Given the description of an element on the screen output the (x, y) to click on. 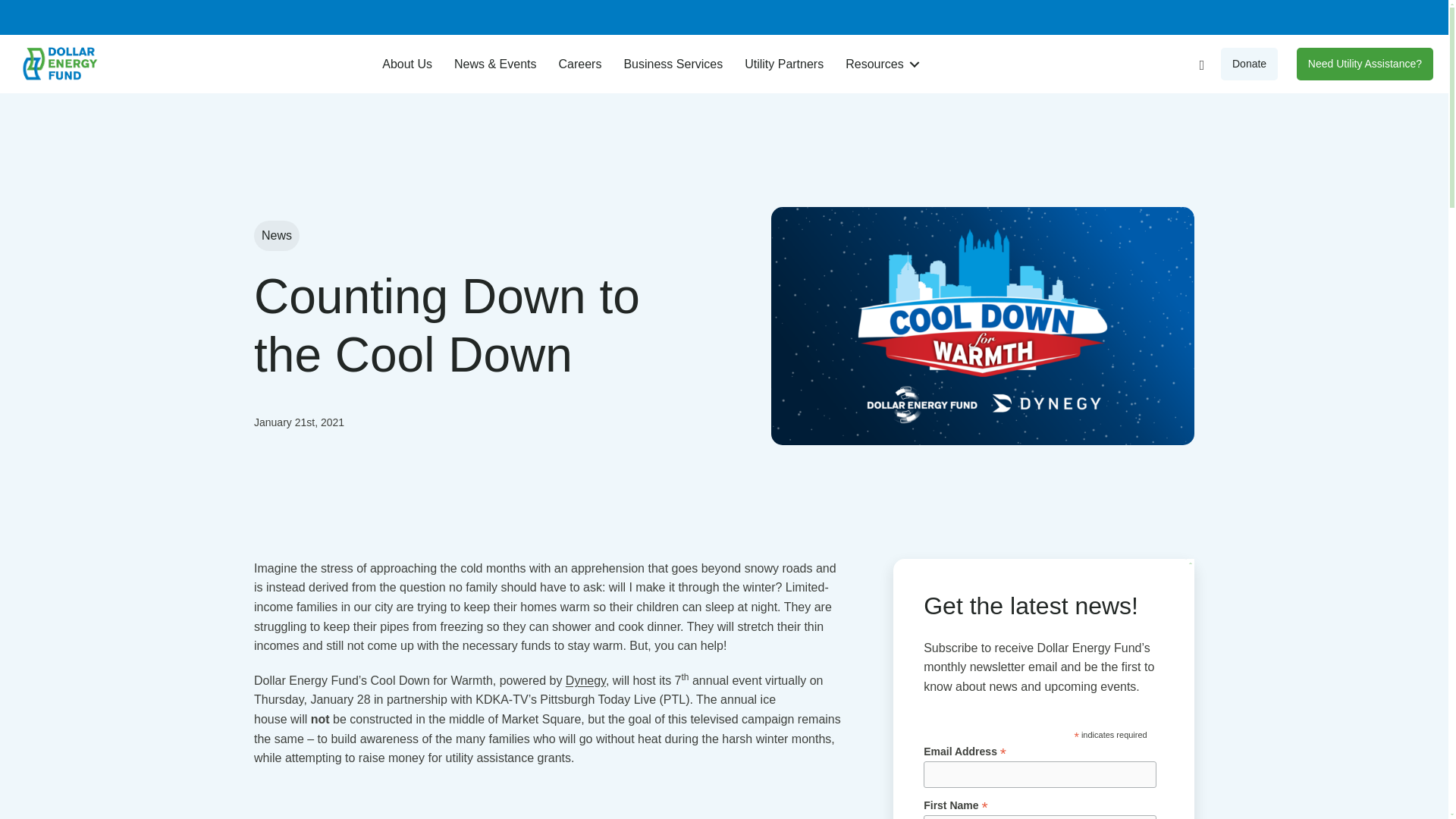
Dynegy (585, 680)
Careers (580, 64)
About Us (406, 64)
Dollar Energy Fund Logo (55, 63)
Business Services (672, 64)
Need Utility Assistance? (1364, 63)
Resources (879, 64)
Utility Partners (783, 64)
Donate (1249, 63)
